Given the description of an element on the screen output the (x, y) to click on. 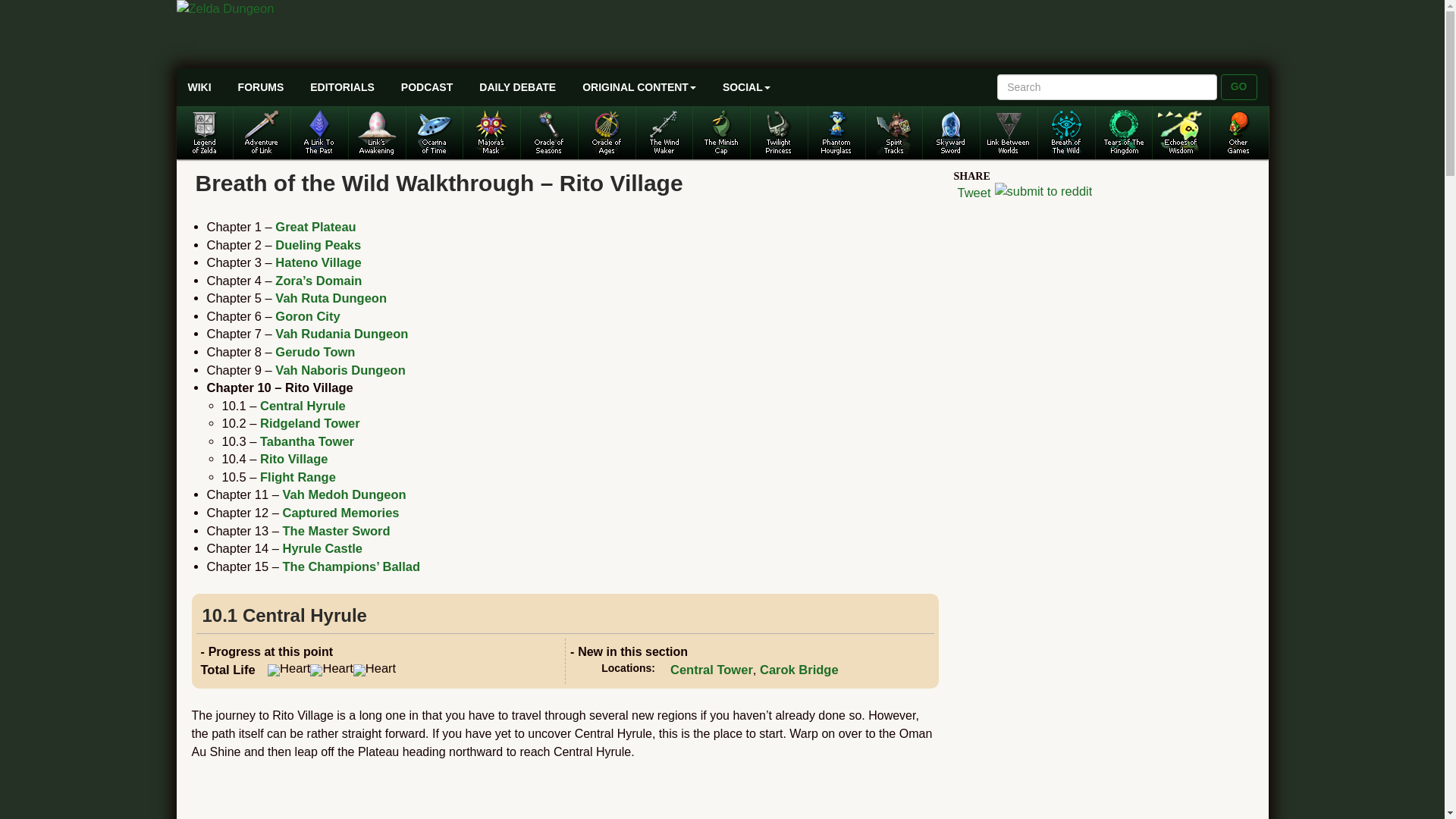
Zelda Dungeon (341, 9)
